Given the description of an element on the screen output the (x, y) to click on. 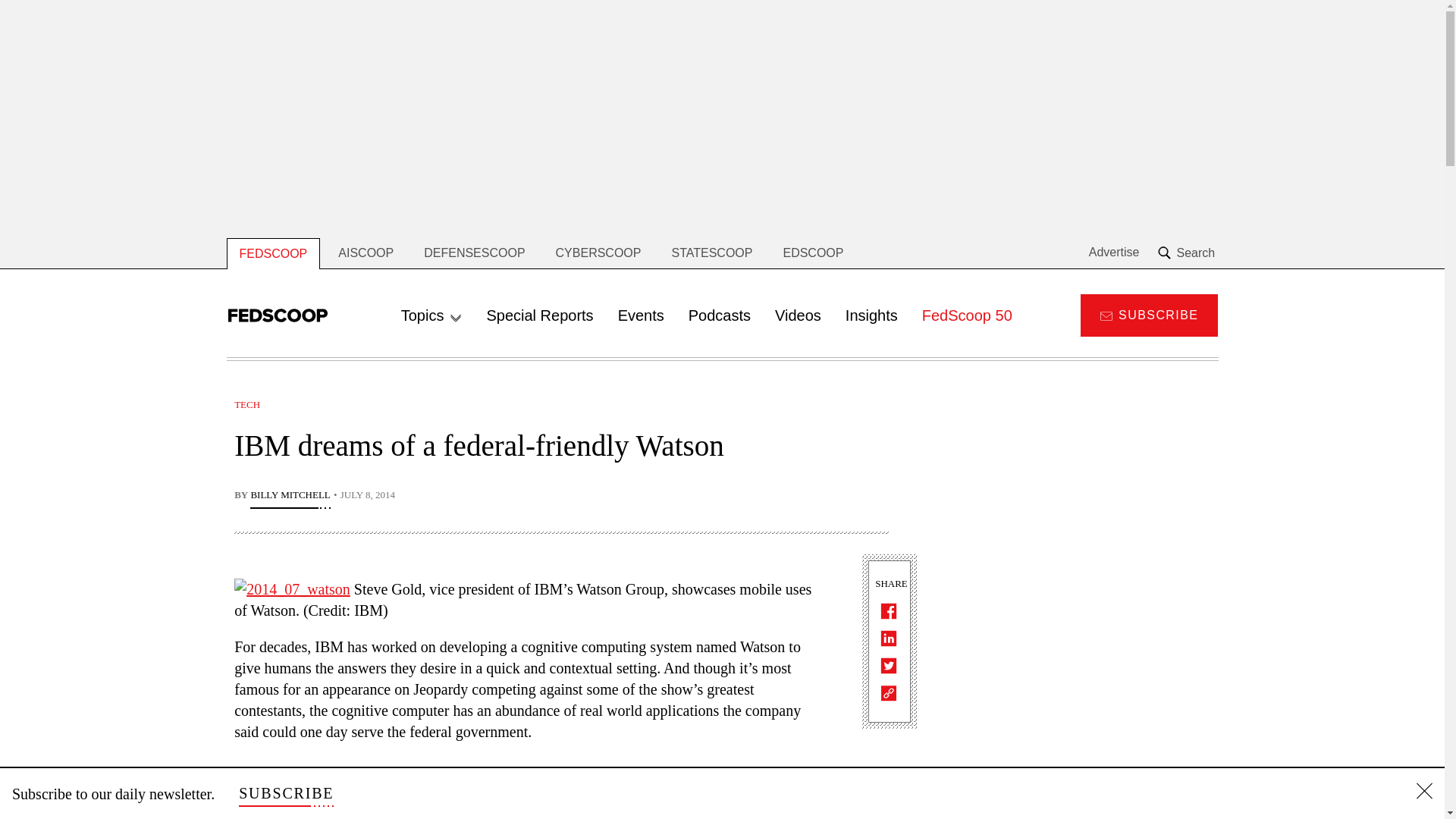
Podcasts (719, 315)
AISCOOP (366, 253)
Insights (871, 315)
SUBSCRIBE (285, 793)
CYBERSCOOP (598, 253)
Special Reports (539, 315)
Videos (797, 315)
TECH (247, 404)
EDSCOOP (813, 253)
